Given the description of an element on the screen output the (x, y) to click on. 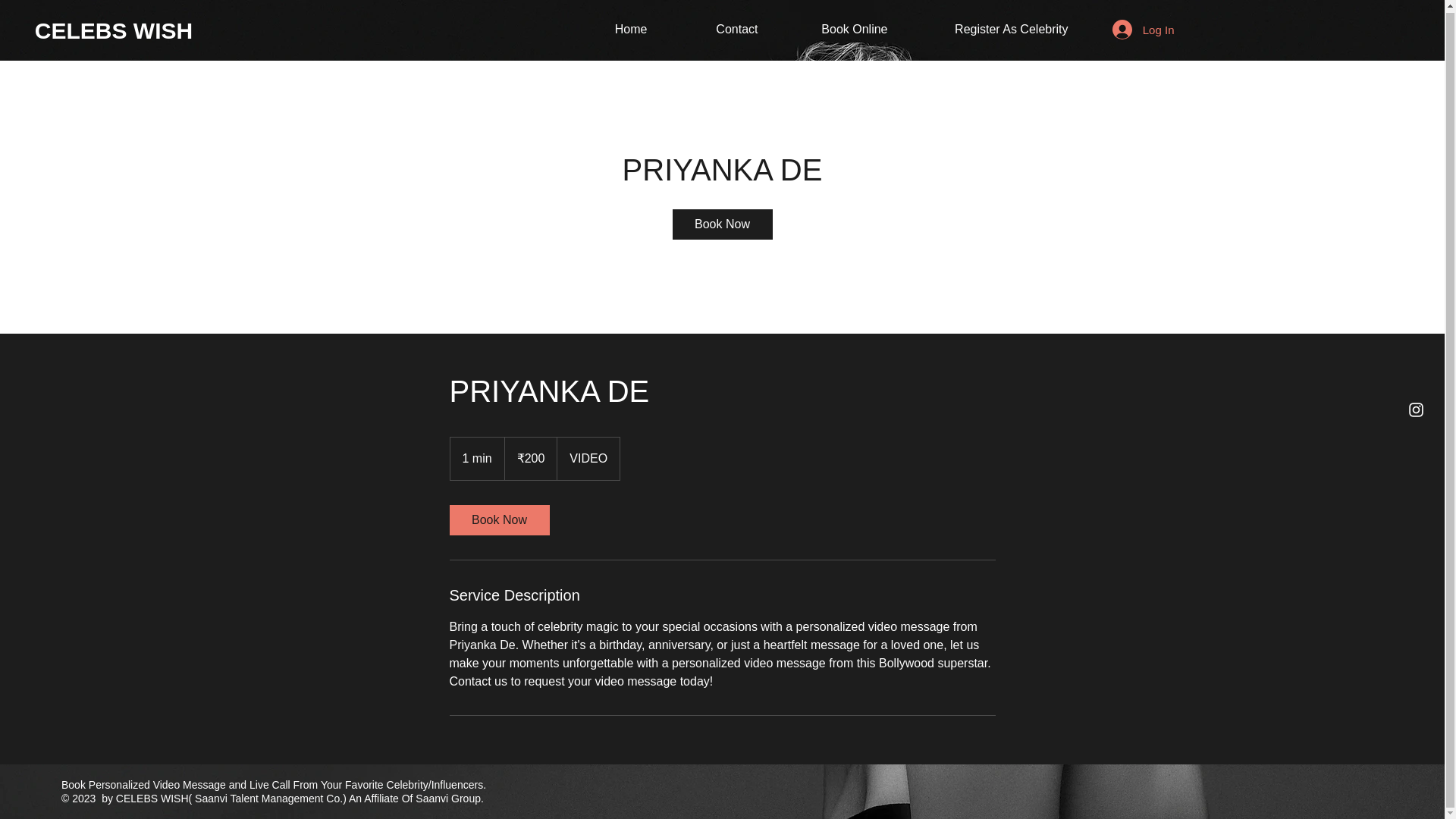
Book Online (833, 29)
Book Now (498, 520)
CELEBS WISH (113, 29)
Home (610, 29)
Register As Celebrity (989, 29)
Log In (1143, 29)
Contact (713, 29)
Book Now (721, 224)
